Given the description of an element on the screen output the (x, y) to click on. 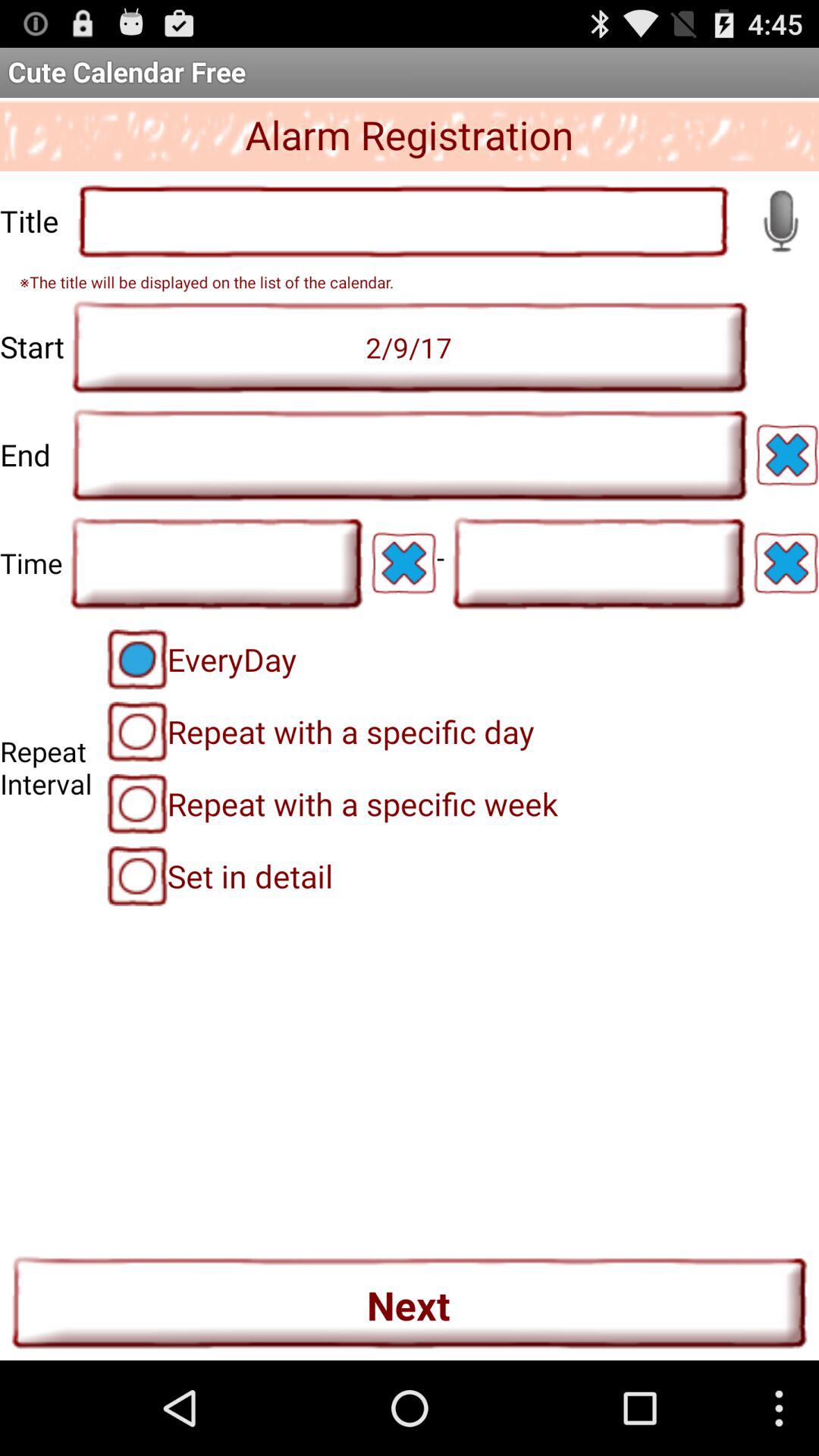
microphone enabled (780, 221)
